Given the description of an element on the screen output the (x, y) to click on. 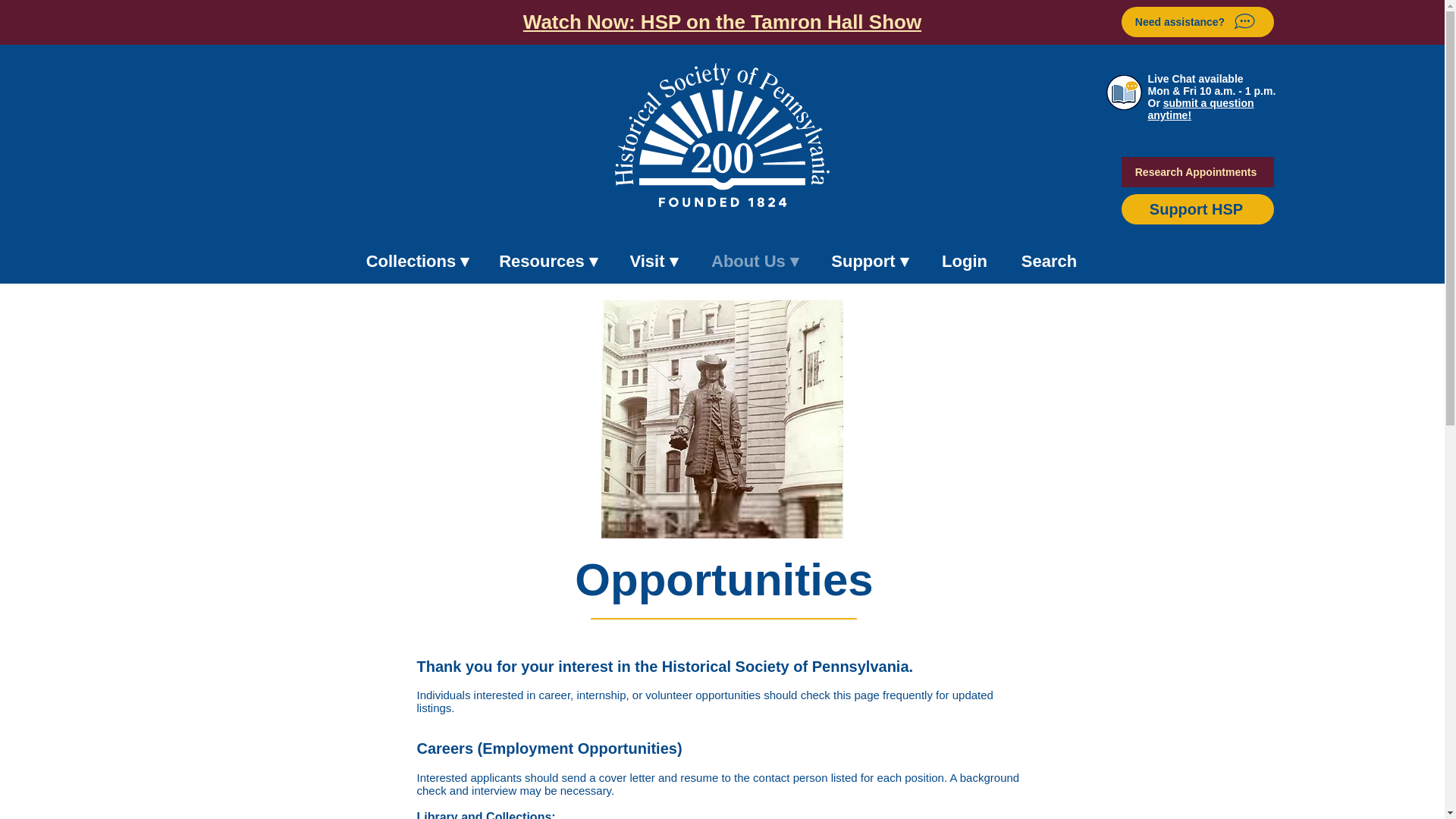
submit a question anytime! (1200, 109)
Opportunities (721, 419)
Need assistance? (1196, 21)
Support HSP (1196, 209)
Research Appointments (1196, 172)
Watch Now: HSP on the Tamron Hall Show (721, 21)
Lib Chat Button.png (1123, 92)
